Given the description of an element on the screen output the (x, y) to click on. 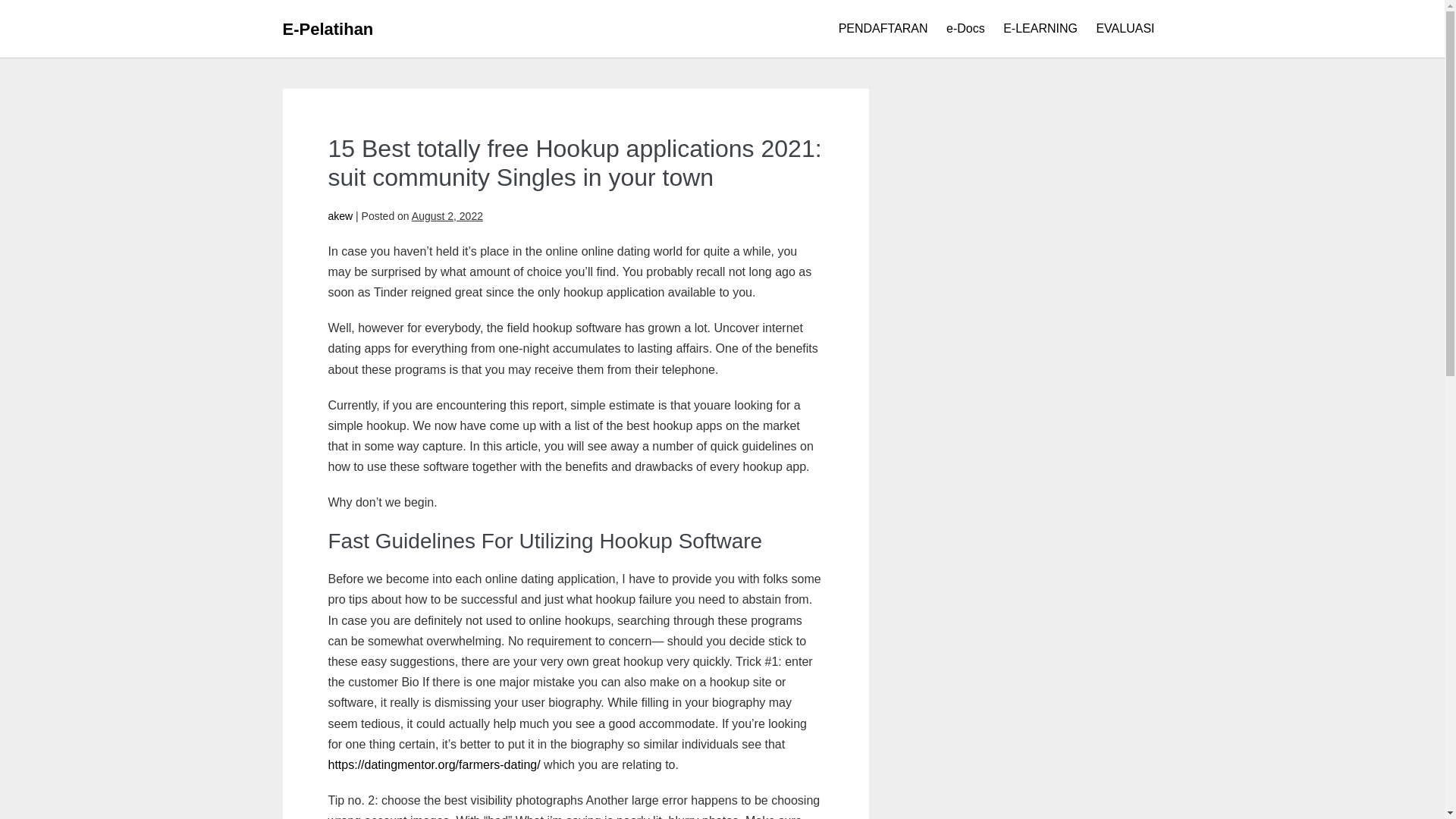
PENDAFTARAN (883, 28)
View all posts by akew (339, 215)
E-LEARNING (1039, 28)
E-Pelatihan (327, 28)
EVALUASI (1124, 28)
e-Docs (965, 28)
akew (339, 215)
